Given the description of an element on the screen output the (x, y) to click on. 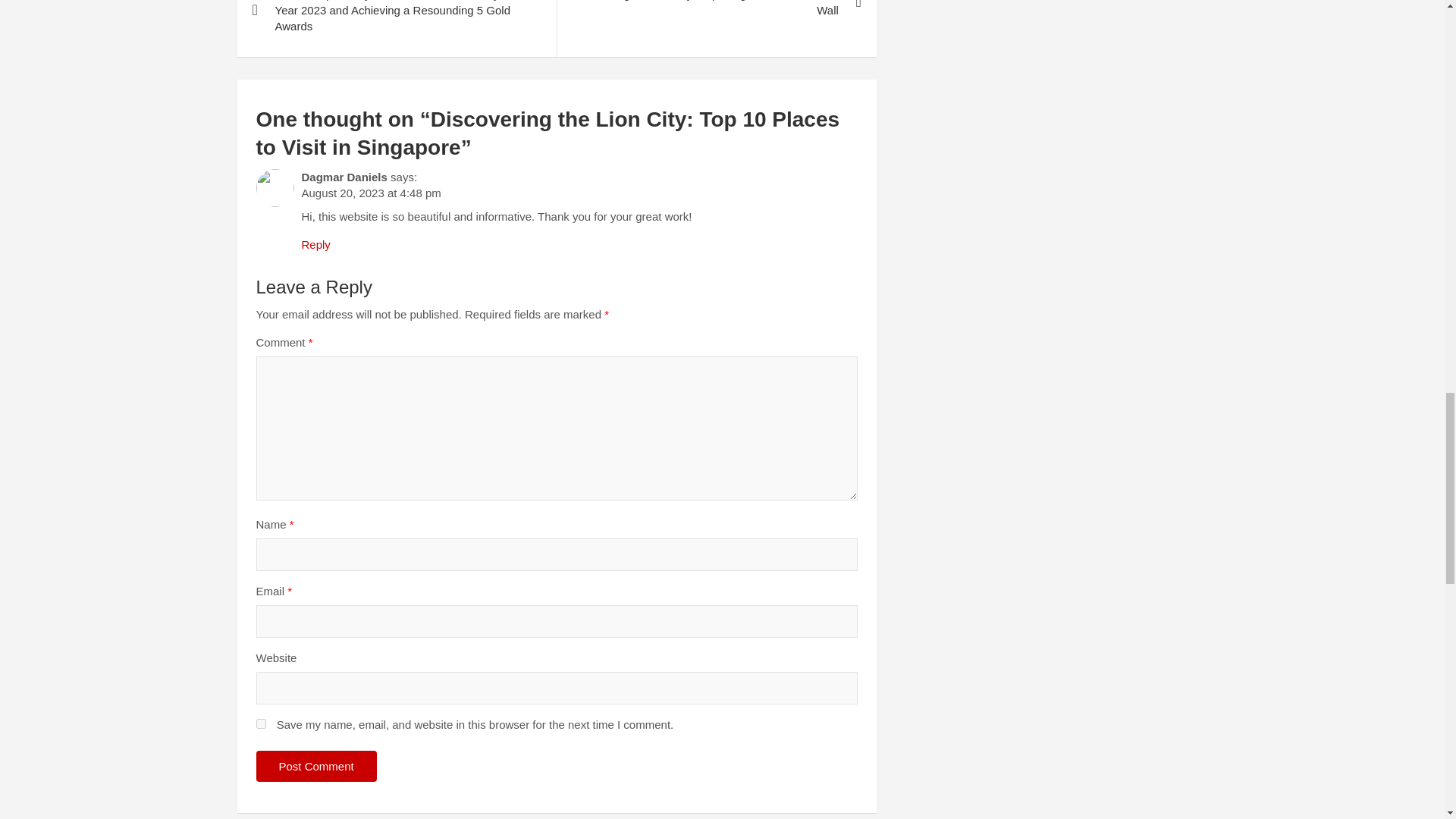
yes (261, 723)
Post Comment (316, 766)
August 20, 2023 at 4:48 pm (371, 192)
Post Comment (316, 766)
Travelling to Germany: Exploring the Historic Berlin Wall (716, 20)
Reply (315, 244)
